Given the description of an element on the screen output the (x, y) to click on. 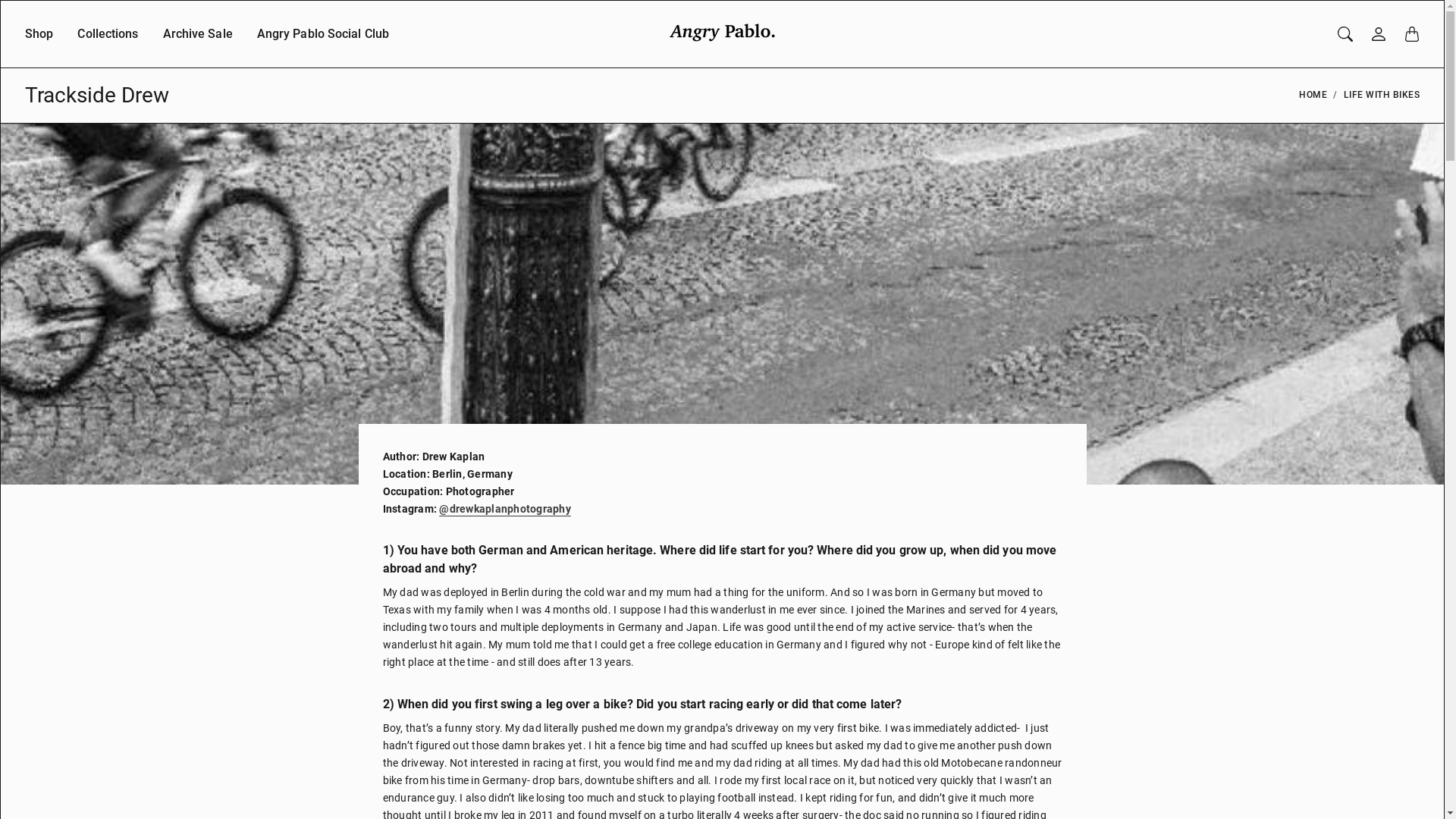
Angry Pablo Social Club Element type: text (323, 46)
Collections Element type: text (107, 46)
@drewkaplanphotography Element type: text (533, 517)
HOME Element type: text (1313, 95)
Skip to content Element type: text (0, 0)
LIFE WITH BIKES Element type: text (1381, 95)
Shop Element type: text (39, 46)
Archive Sale Element type: text (197, 46)
